Given the description of an element on the screen output the (x, y) to click on. 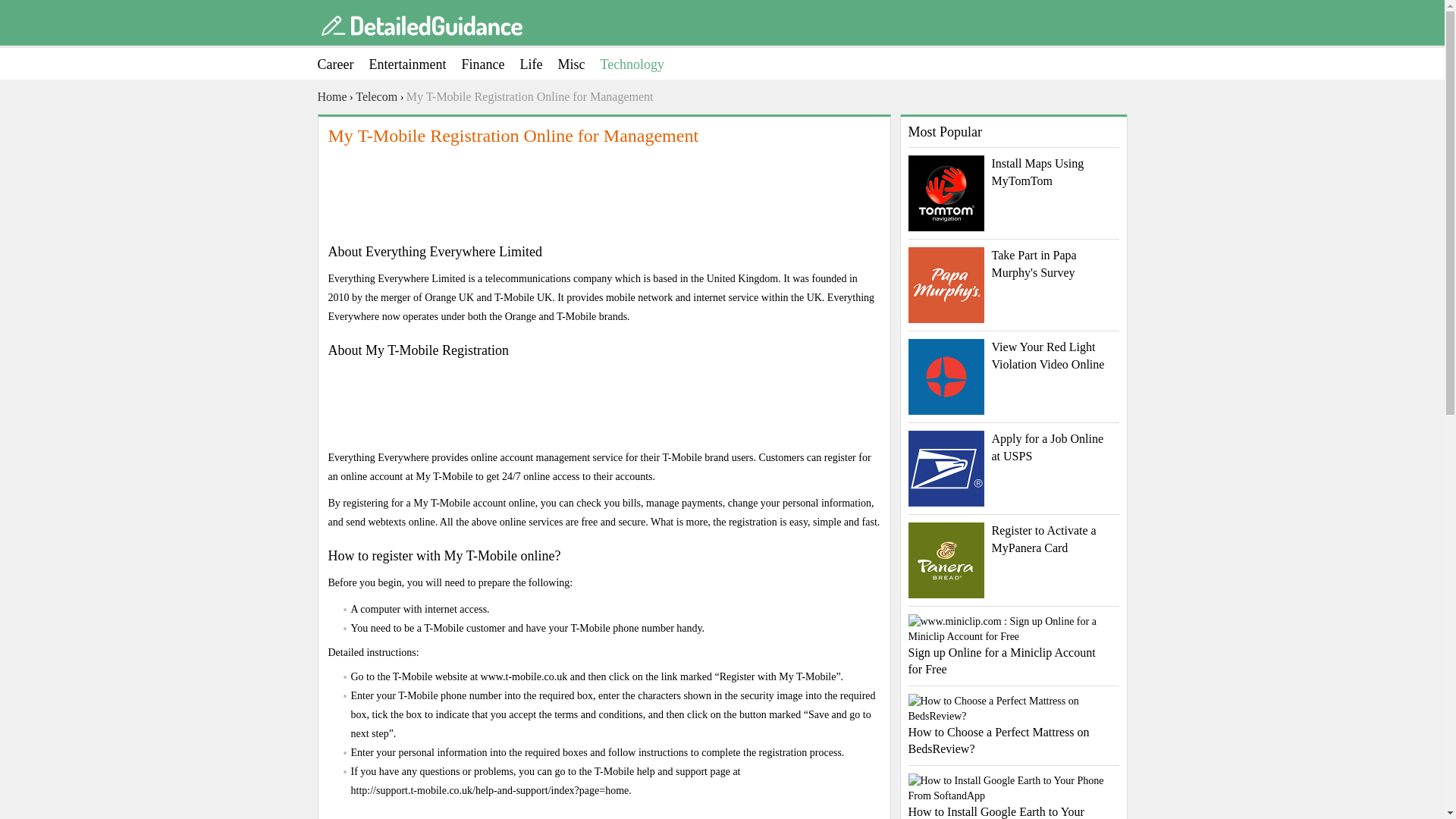
Misc (578, 64)
View Your Red Light Violation Video Online (1013, 356)
Technology (639, 64)
Life (538, 64)
Apply for a Job Online at USPS (1013, 447)
Life (538, 64)
Register to Activate a MyPanera Card (1013, 539)
Entertainment (414, 64)
How to Install Google Earth to Your Phone From SoftandApp (1013, 796)
Home (331, 96)
Take Part in Papa Murphy's Survey (1013, 264)
Entertainment (414, 64)
www.t-mobile.co.uk (523, 676)
Career (342, 64)
Install Maps Using MyTomTom (1013, 172)
